Given the description of an element on the screen output the (x, y) to click on. 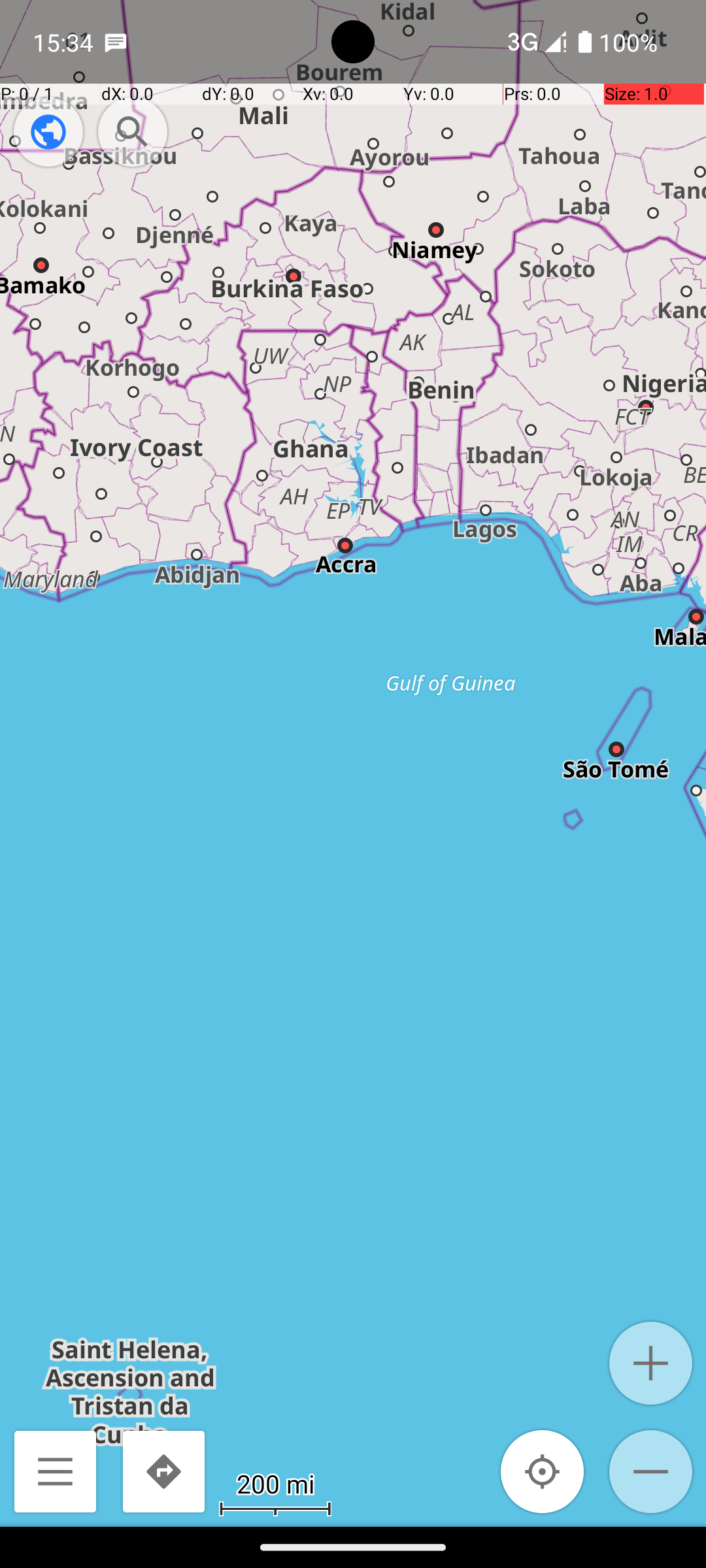
Map Element type: android.view.View (353, 763)
Configure map Element type: android.widget.ImageButton (48, 131)
Back to menu Element type: android.widget.ImageButton (55, 1471)
Route Element type: android.widget.ImageButton (163, 1471)
200 mi Element type: android.widget.TextView (274, 1483)
Position not yet known. Element type: android.widget.ImageButton (542, 1471)
Zoom in Element type: android.widget.ImageButton (650, 1362)
Zoom out Element type: android.widget.ImageButton (650, 1471)
